Given the description of an element on the screen output the (x, y) to click on. 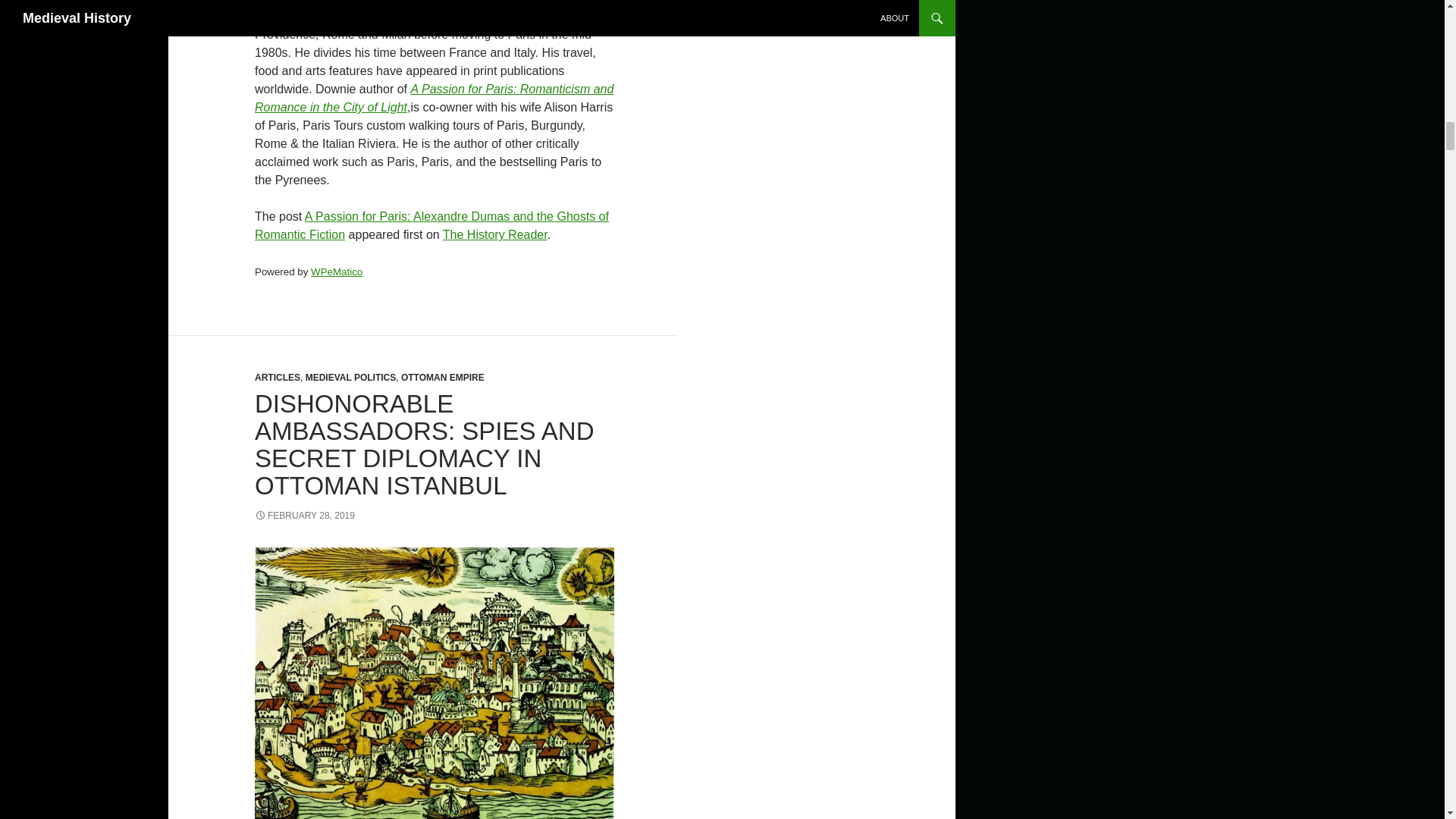
MEDIEVAL POLITICS (350, 377)
The History Reader (494, 234)
WPeMatico (336, 271)
ARTICLES (276, 377)
OTTOMAN EMPIRE (442, 377)
